Given the description of an element on the screen output the (x, y) to click on. 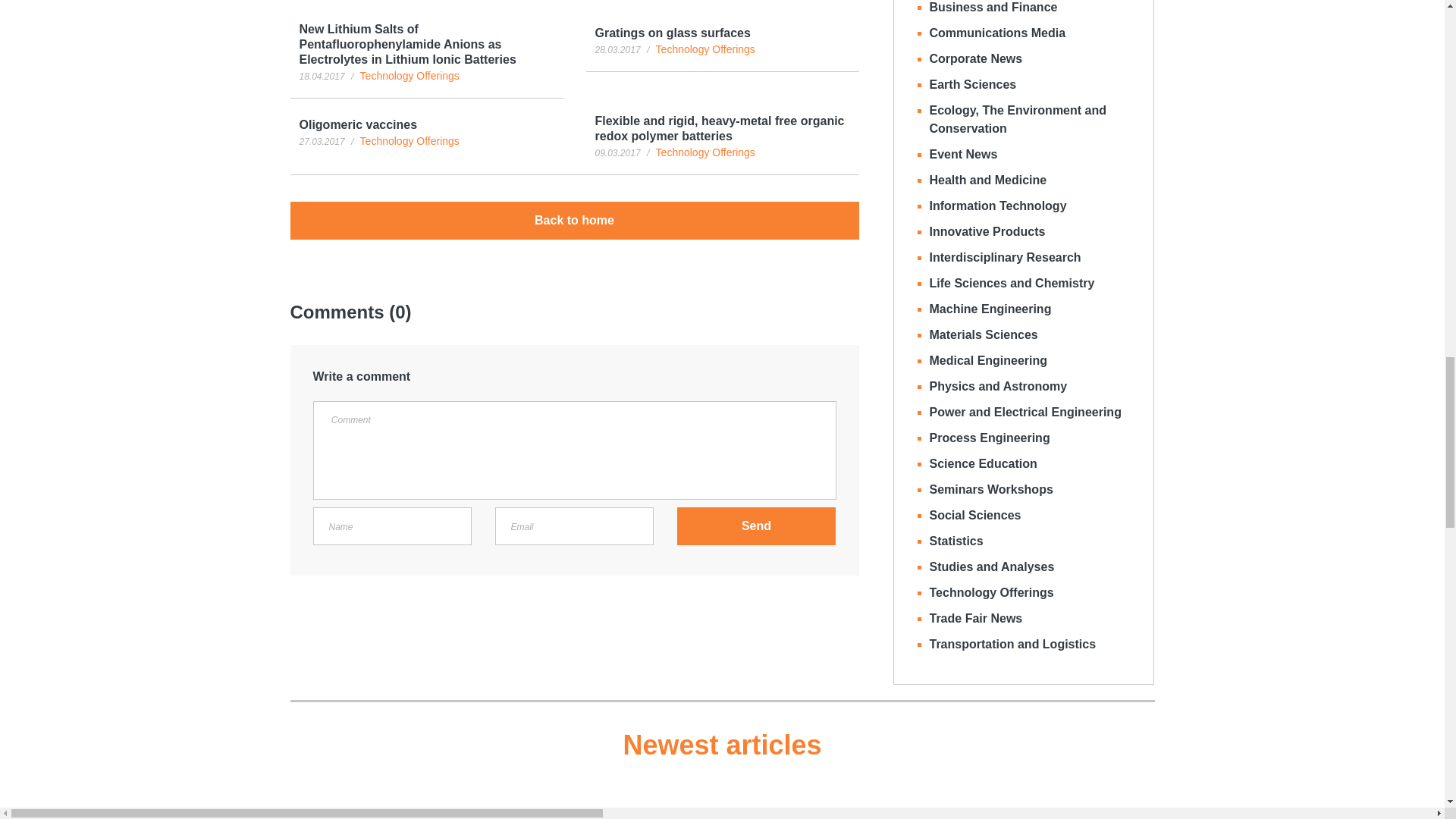
Send (756, 525)
